Given the description of an element on the screen output the (x, y) to click on. 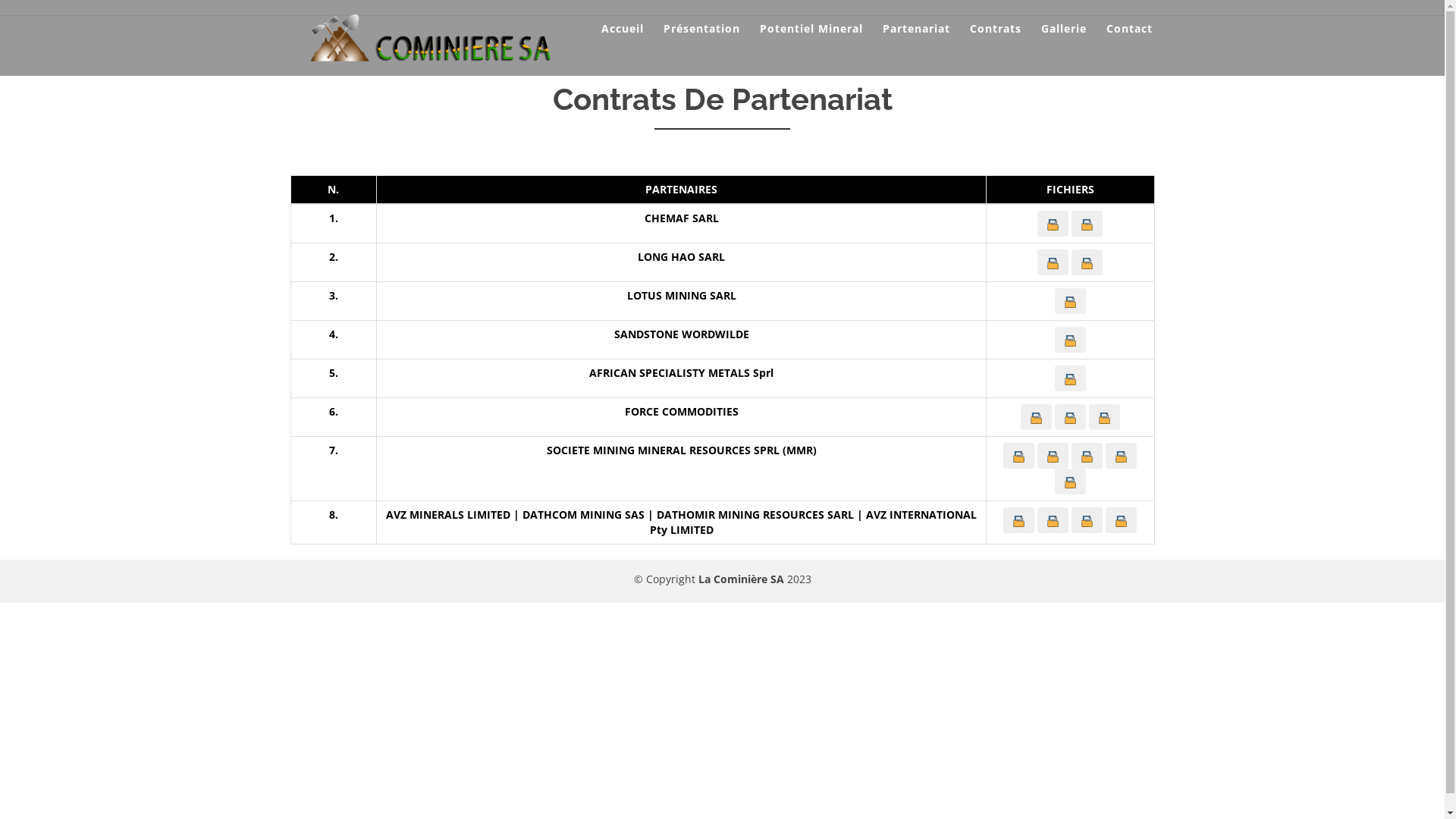
Accueil Element type: text (622, 28)
Contact Element type: text (1129, 28)
Gallerie Element type: text (1063, 28)
Contrats Element type: text (995, 28)
Partenariat Element type: text (916, 28)
Potentiel Mineral Element type: text (810, 28)
